Given the description of an element on the screen output the (x, y) to click on. 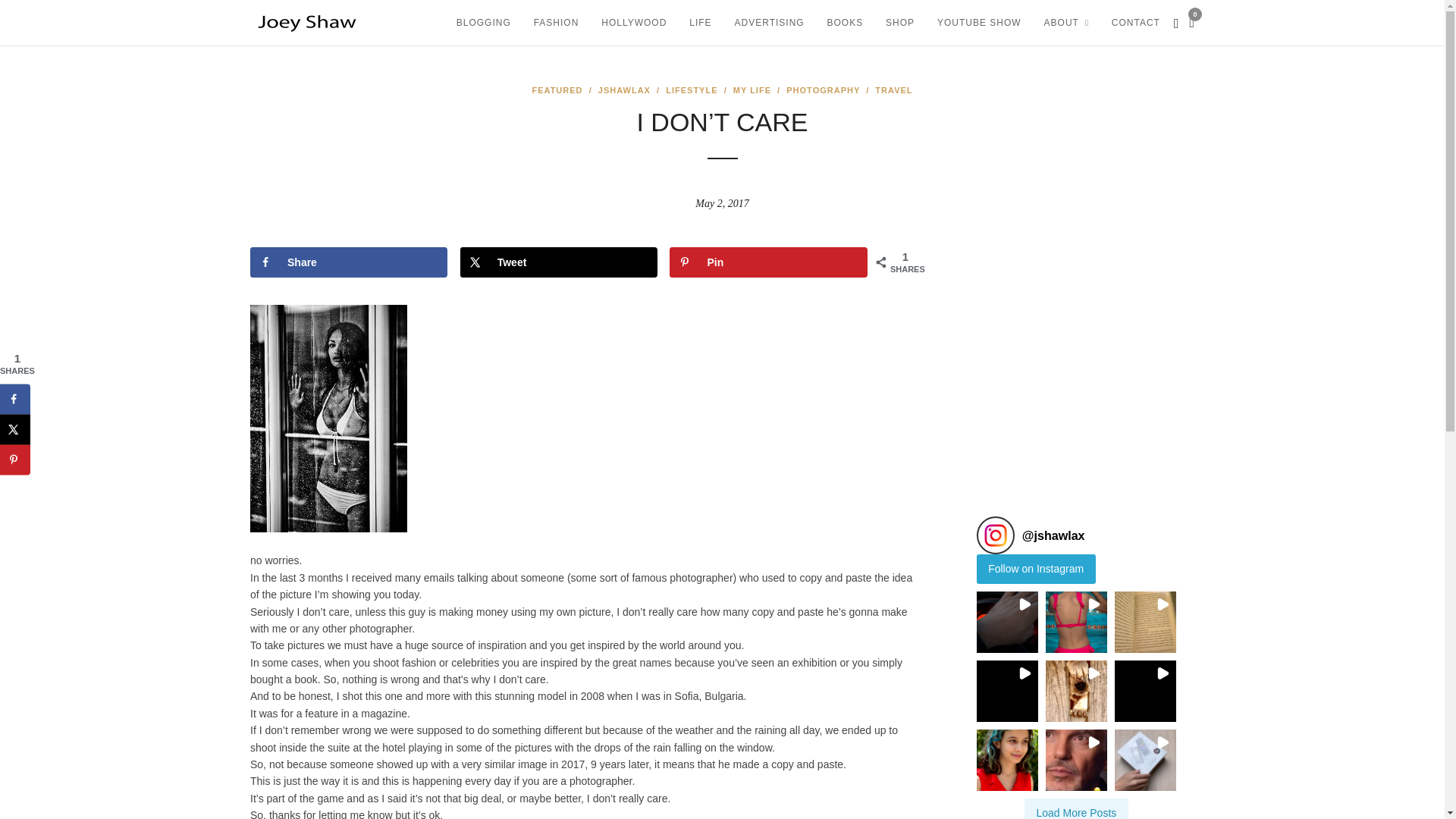
ABOUT (1066, 23)
PHOTOS trailer (1075, 353)
BOOKS (844, 23)
FASHION (556, 23)
YOUTUBE SHOW (978, 23)
SHOP (900, 23)
BLOGGING (483, 23)
Save to Pinterest (767, 262)
ADVERTISING (769, 23)
Share on Facebook (348, 262)
HOLLYWOOD (634, 23)
Share on X (559, 262)
CONTACT (1136, 23)
